Given the description of an element on the screen output the (x, y) to click on. 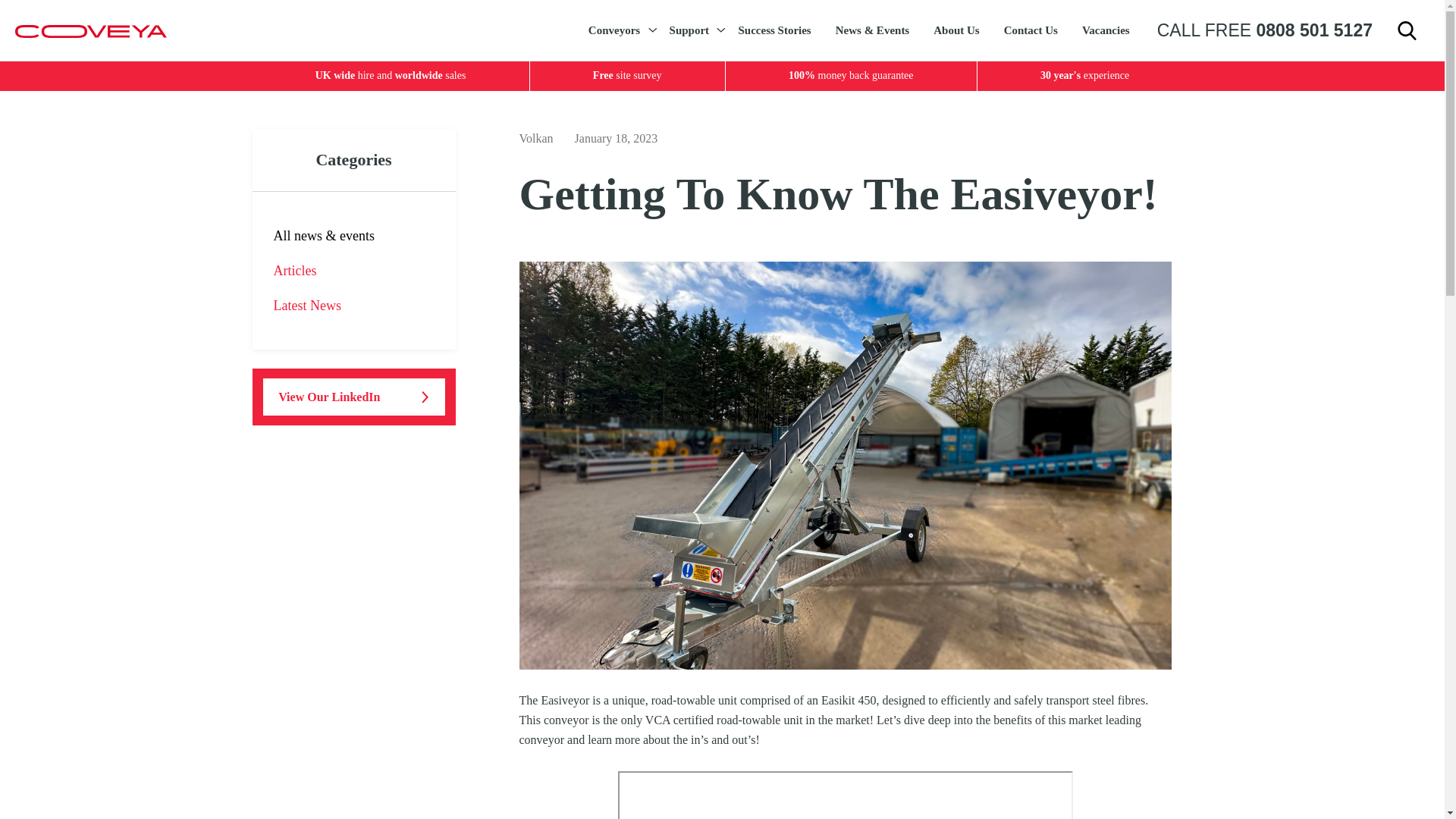
Support (692, 30)
Contact Us (1030, 30)
Vacancies (1105, 30)
About Us (956, 30)
Conveyors (617, 30)
0808 501 5127 (1314, 30)
Return to homepage (90, 30)
Success Stories (773, 30)
